Given the description of an element on the screen output the (x, y) to click on. 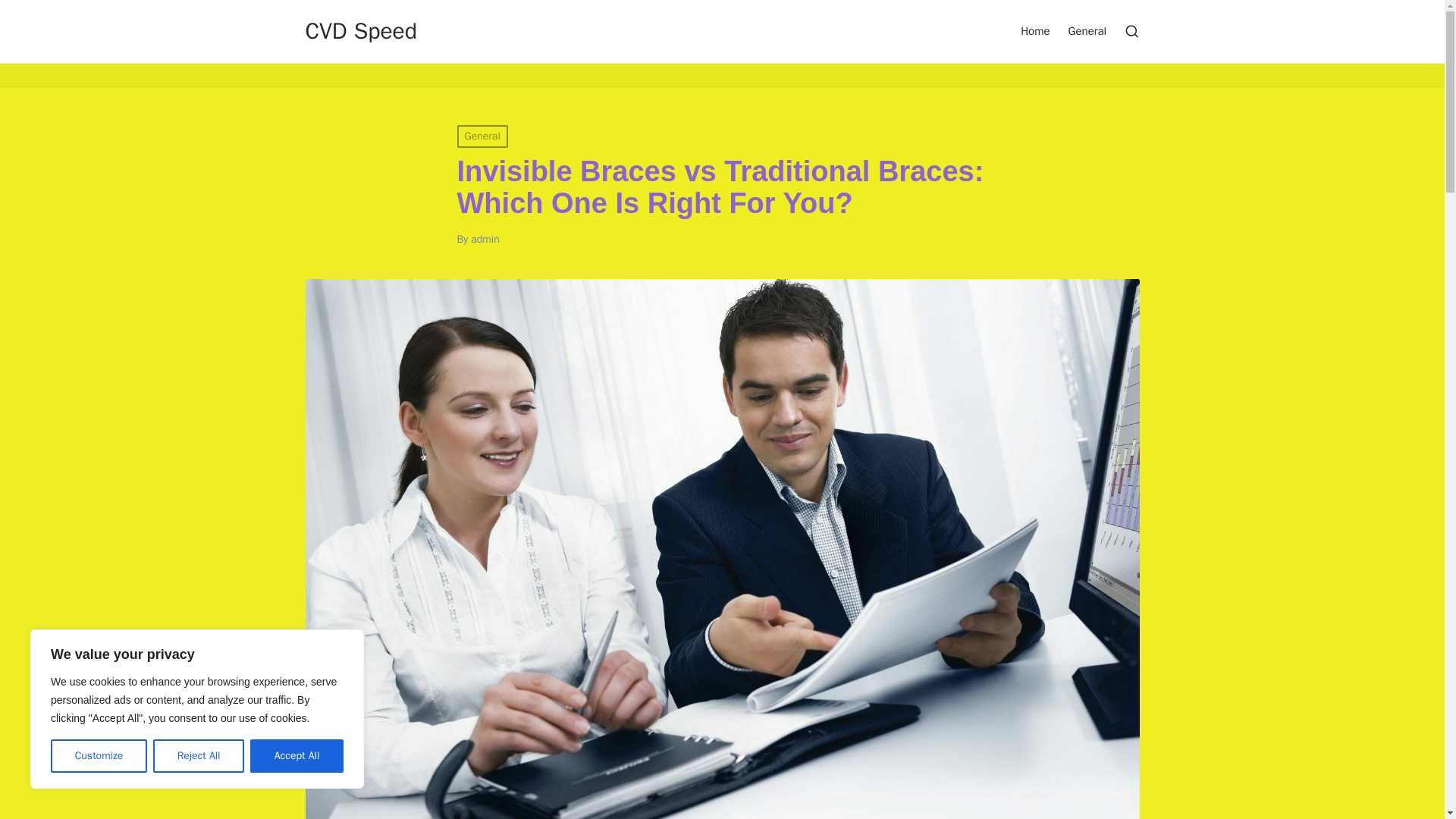
General (481, 136)
Home (1034, 30)
admin (484, 238)
Customize (98, 756)
Accept All (296, 756)
General (1087, 30)
Reject All (198, 756)
CVD Speed (360, 31)
View all posts by  (484, 238)
